Given the description of an element on the screen output the (x, y) to click on. 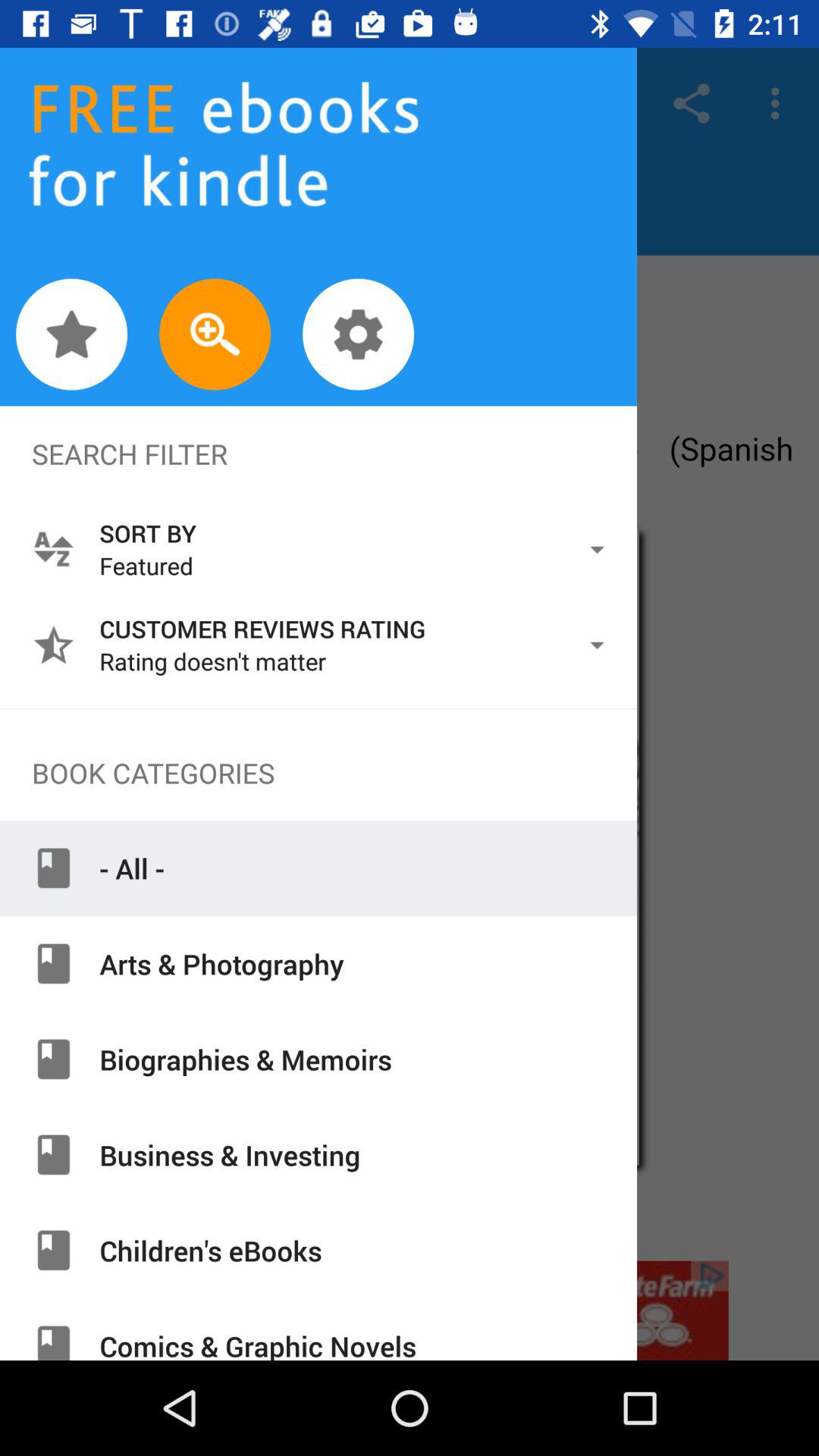
zoom in (214, 334)
